Given the description of an element on the screen output the (x, y) to click on. 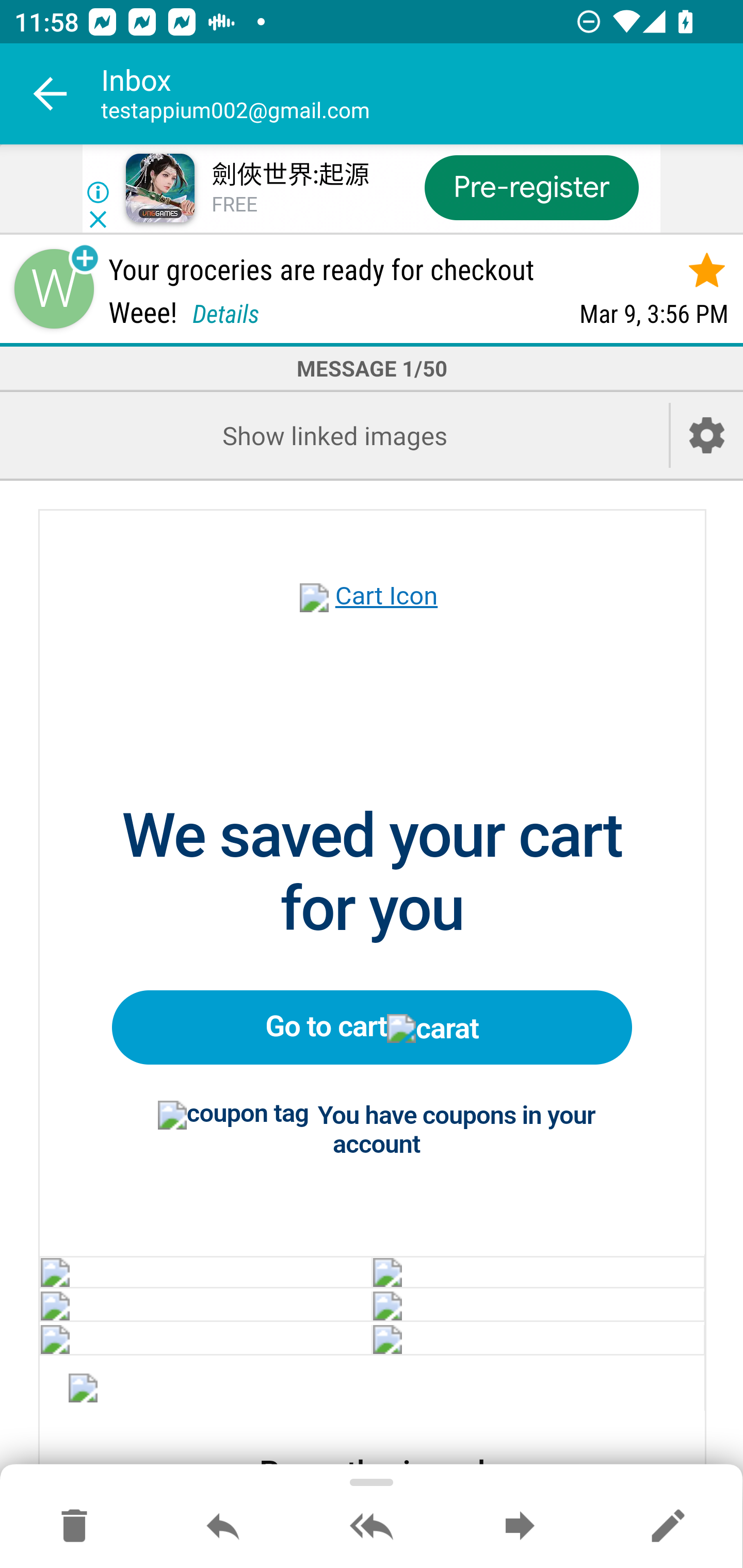
Navigate up (50, 93)
Inbox testappium002@gmail.com (422, 93)
Pre-register (530, 187)
劍俠世界:起源 (289, 175)
FREE (234, 204)
Sender contact button (53, 289)
Show linked images (334, 435)
Account setup (706, 435)
click?upn=u001 (372, 619)
data: (205, 1271)
data: (538, 1271)
data: (205, 1305)
data: (538, 1305)
data: (205, 1338)
data: (538, 1338)
data: (83, 1390)
Move to Deleted (74, 1527)
Reply (222, 1527)
Reply all (371, 1527)
Forward (519, 1527)
Reply as new (667, 1527)
